Given the description of an element on the screen output the (x, y) to click on. 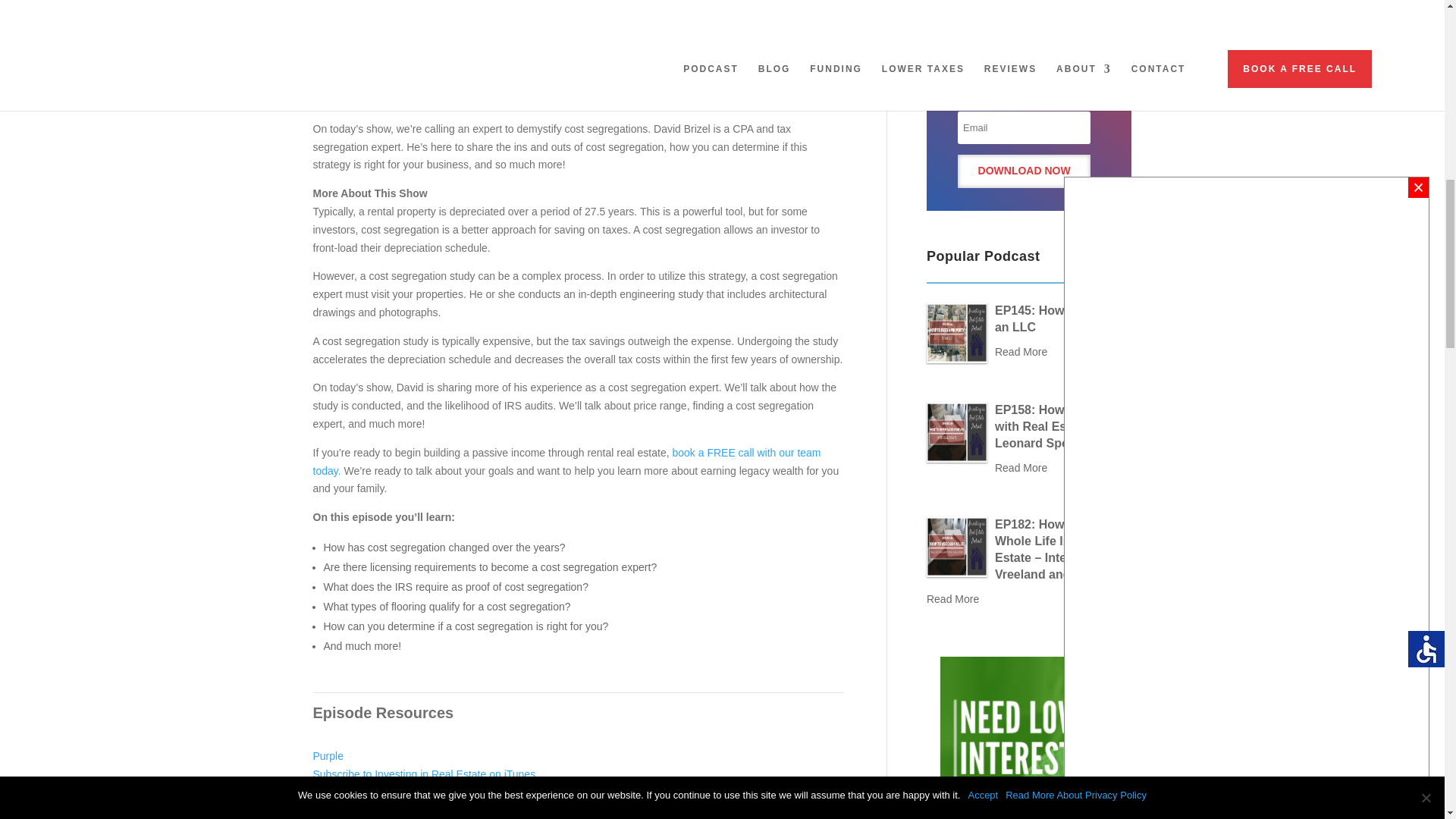
EP145: How to Deed a Property to an LLC (956, 332)
